Given the description of an element on the screen output the (x, y) to click on. 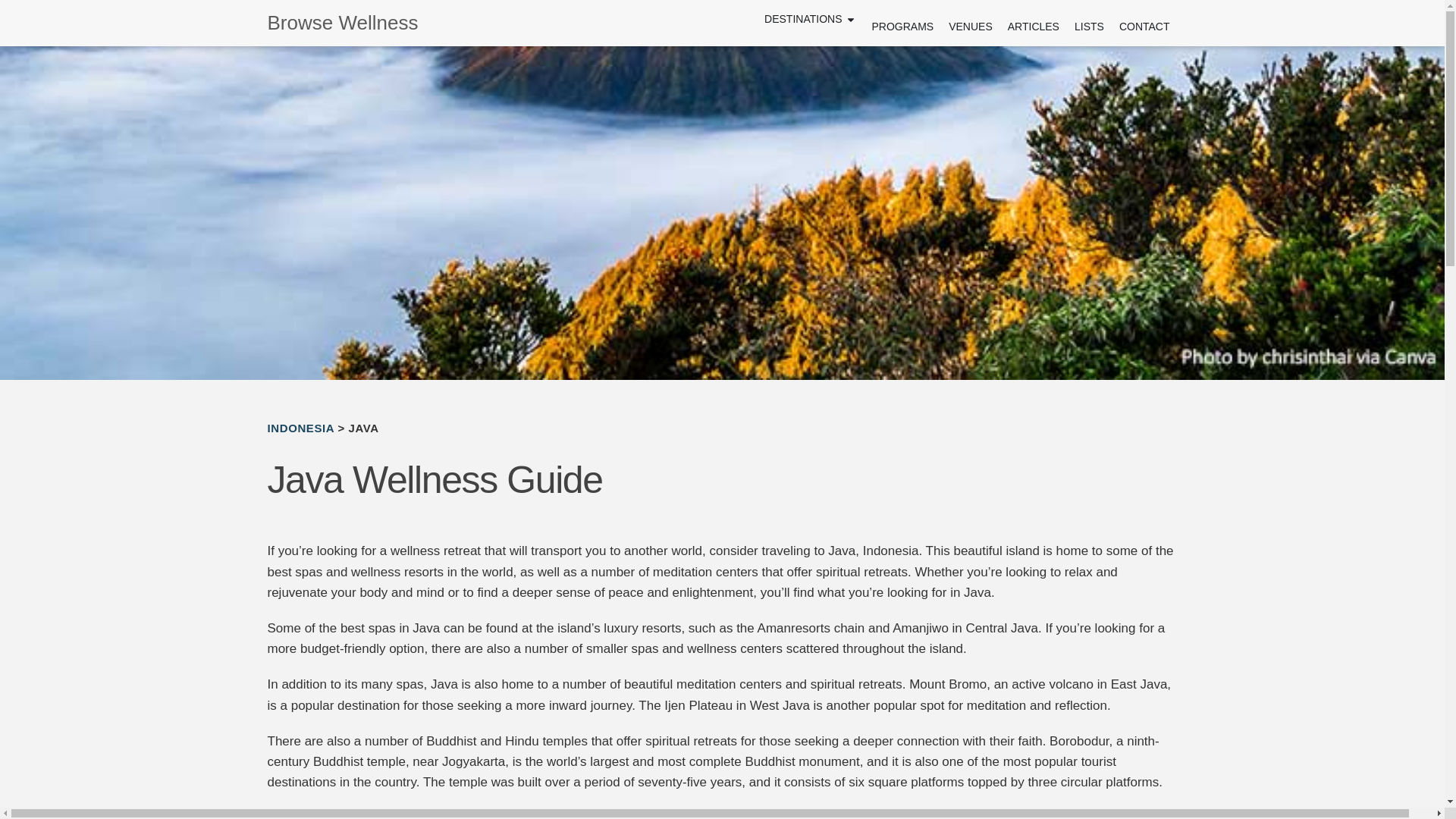
DESTINATIONS (802, 19)
Browse Wellness (361, 22)
